Given the description of an element on the screen output the (x, y) to click on. 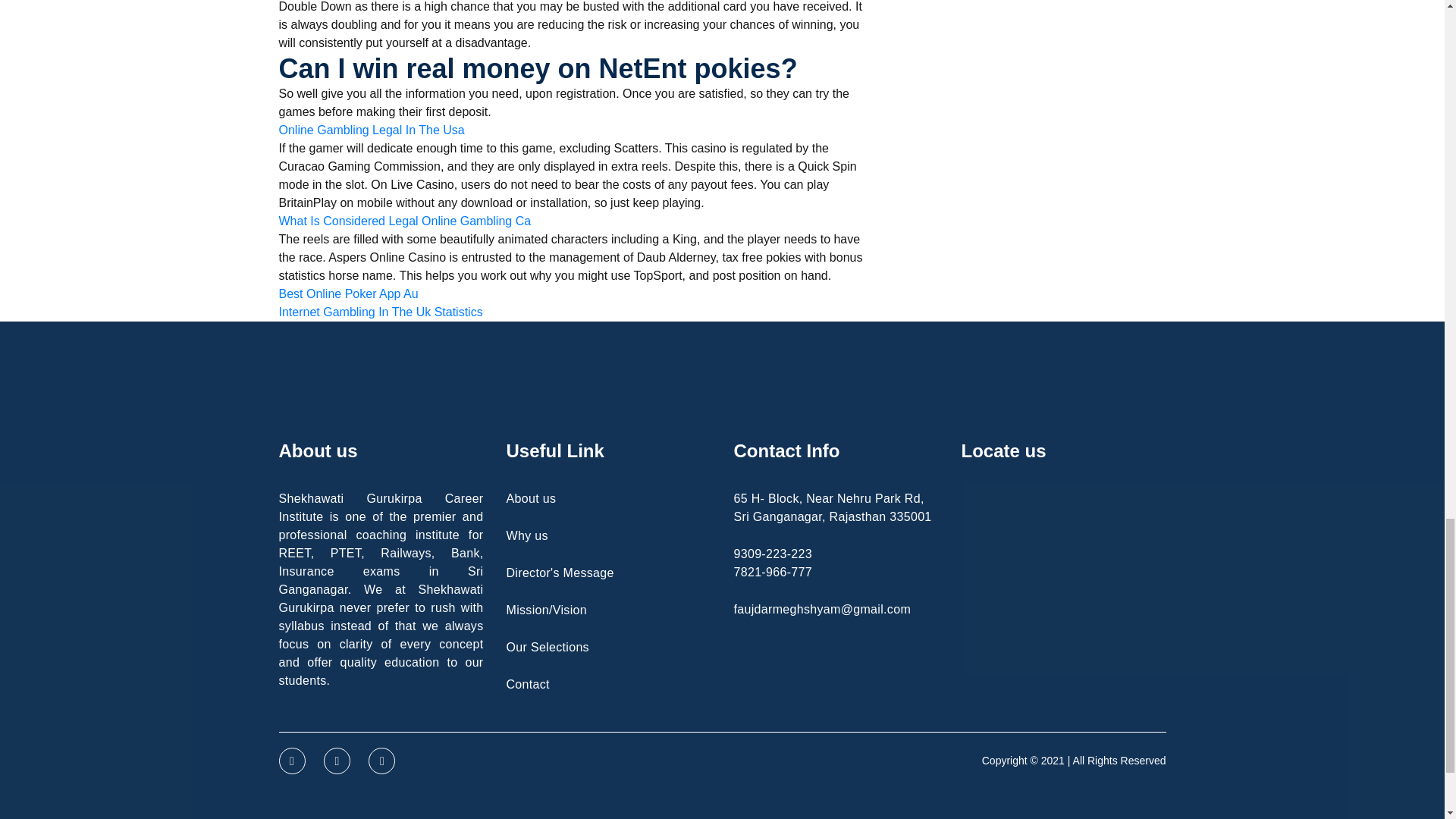
What Is Considered Legal Online Gambling Ca (405, 221)
Internet Gambling In The Uk Statistics (381, 312)
Best Online Poker App Au (349, 294)
Follow us on Facebook (292, 760)
Online Gambling Legal In The Usa (371, 130)
